Given the description of an element on the screen output the (x, y) to click on. 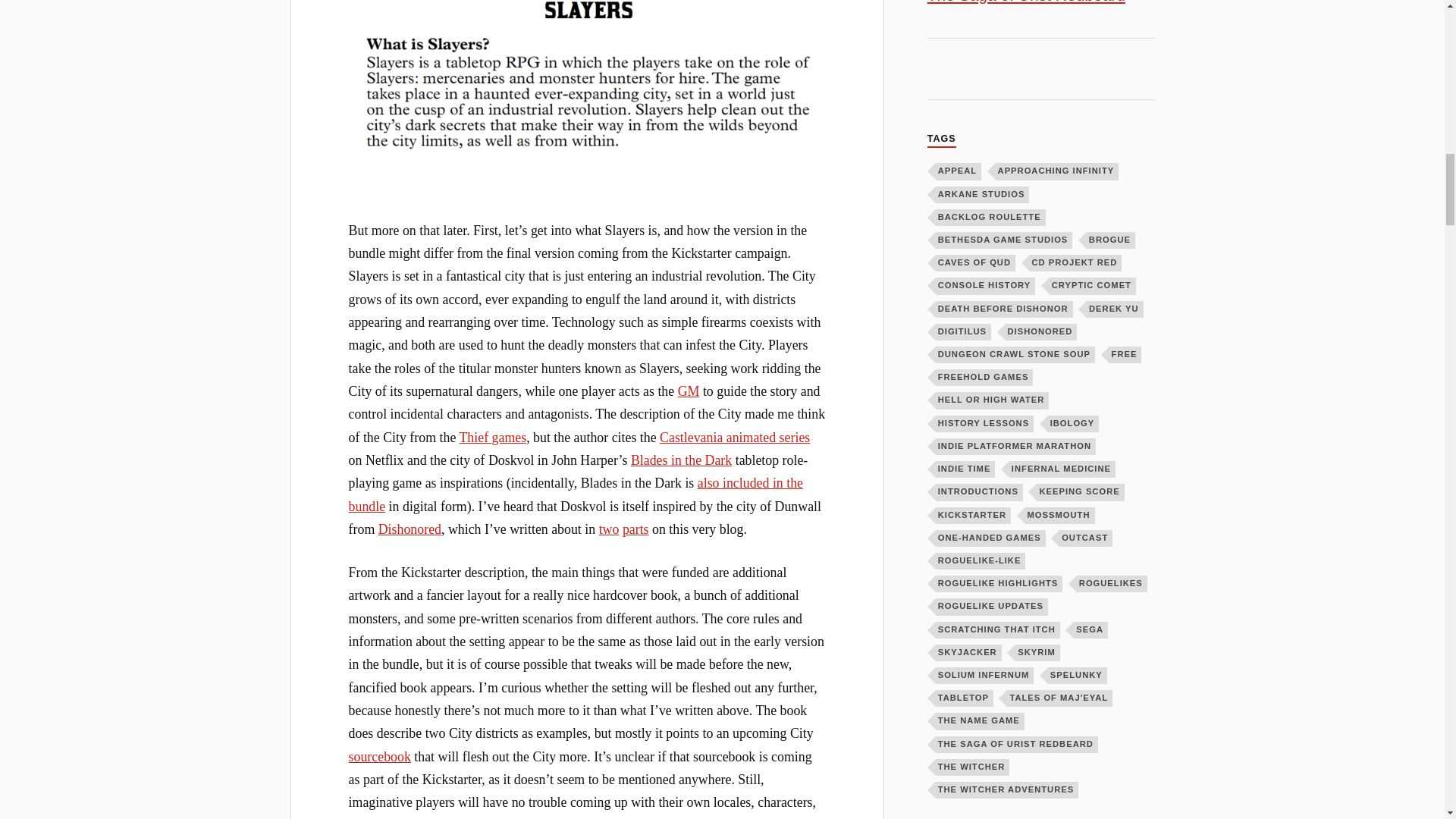
two (609, 529)
sourcebook (379, 756)
Blades in the Dark (681, 459)
Castlevania animated series (734, 437)
Thief games (491, 437)
GM (689, 391)
also included in the bundle (576, 494)
Dishonored (409, 529)
parts (636, 529)
Yeah, that sounds like maximum gloom. (587, 79)
